Given the description of an element on the screen output the (x, y) to click on. 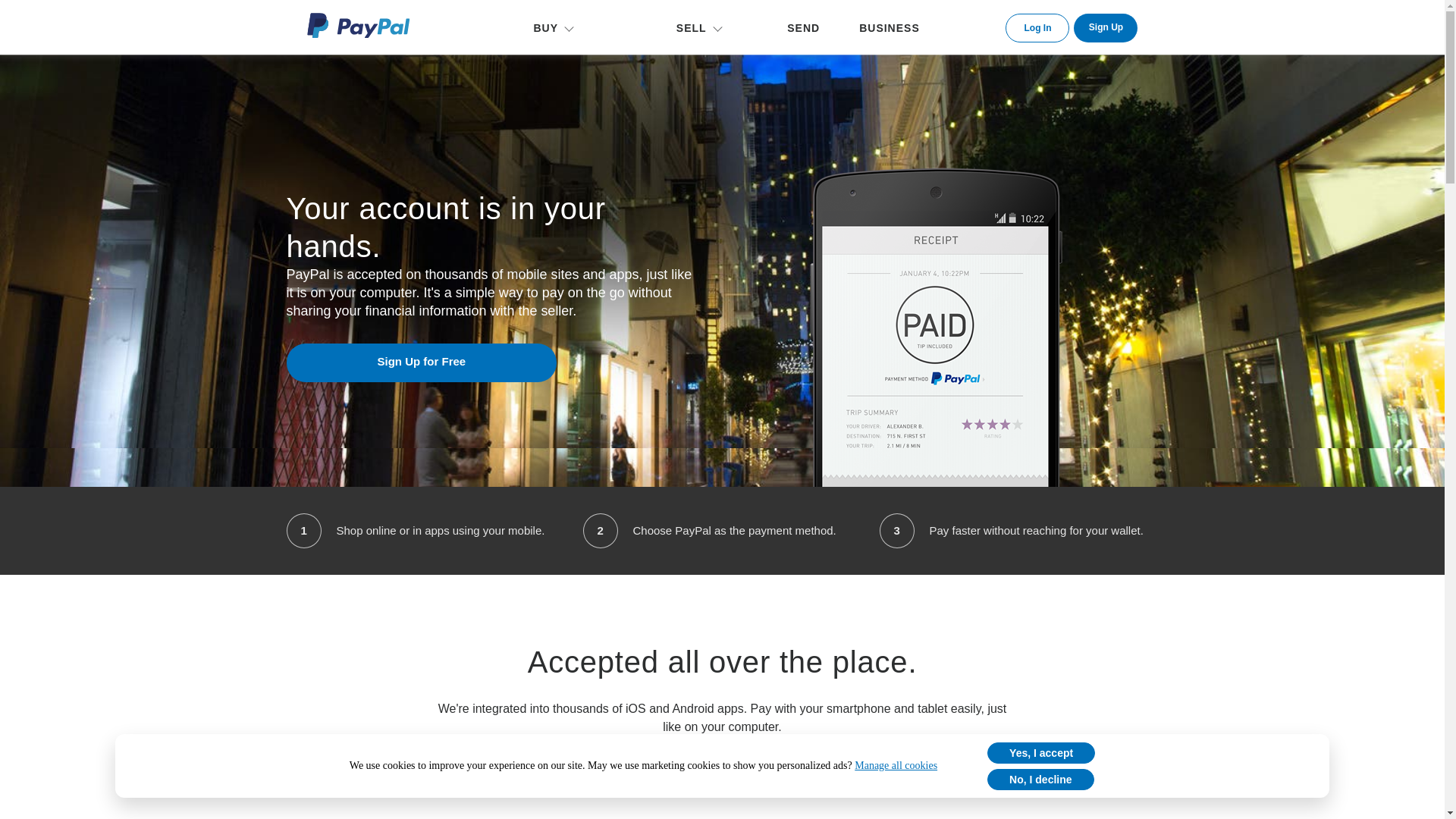
BUY (549, 27)
PayPal Logo (357, 25)
No, I decline (1040, 779)
SELL (695, 27)
BUSINESS (889, 27)
Sign Up for Free (421, 362)
Yes, I accept (1040, 752)
SEND (803, 27)
Manage all cookies (895, 765)
Log In (1037, 27)
Sign Up (1105, 27)
